Given the description of an element on the screen output the (x, y) to click on. 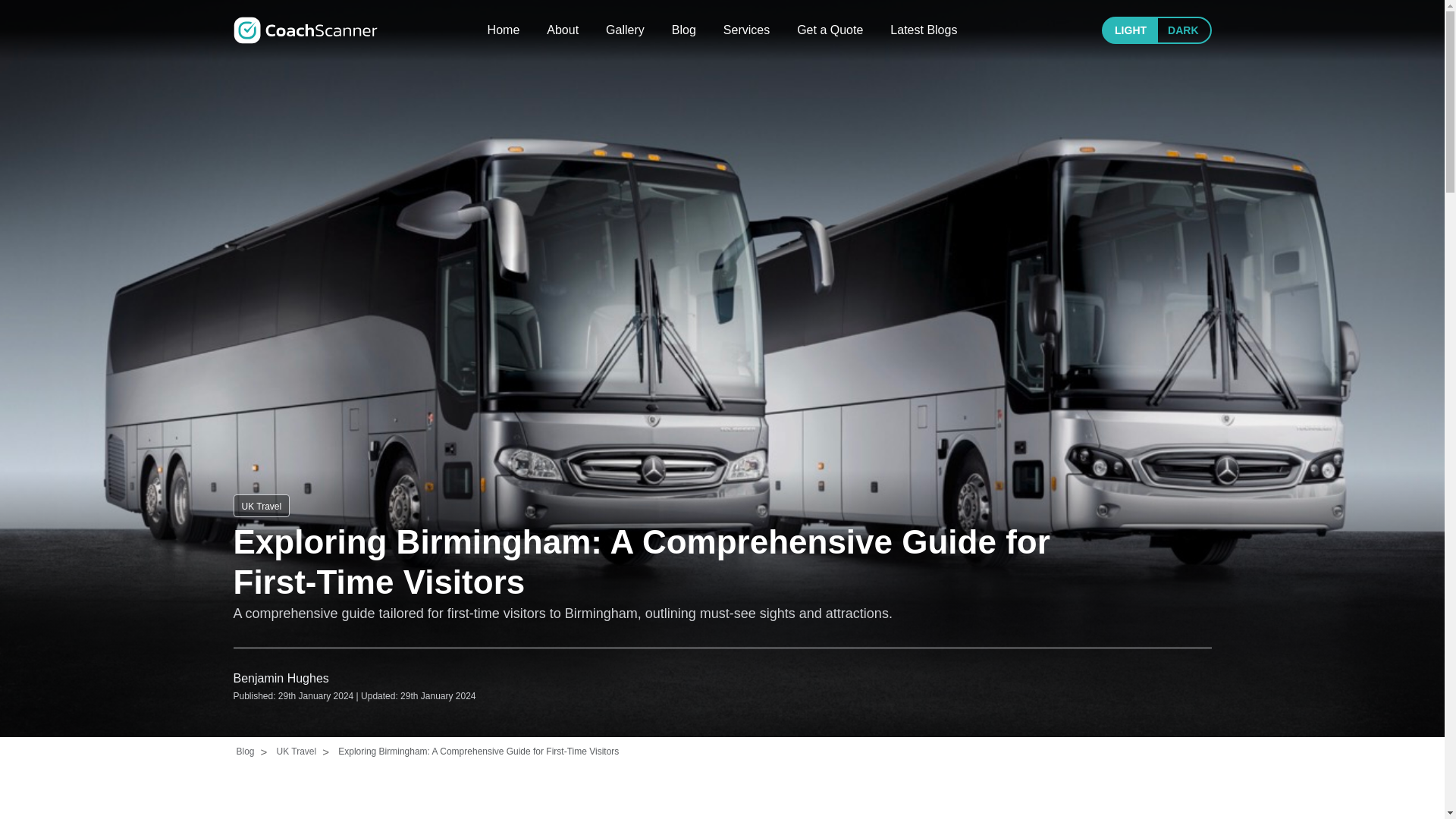
Latest Blogs (922, 30)
Get a Quote (829, 30)
Coach Scanner (304, 30)
Get a Quote (829, 30)
Latest Blogs (922, 30)
